Given the description of an element on the screen output the (x, y) to click on. 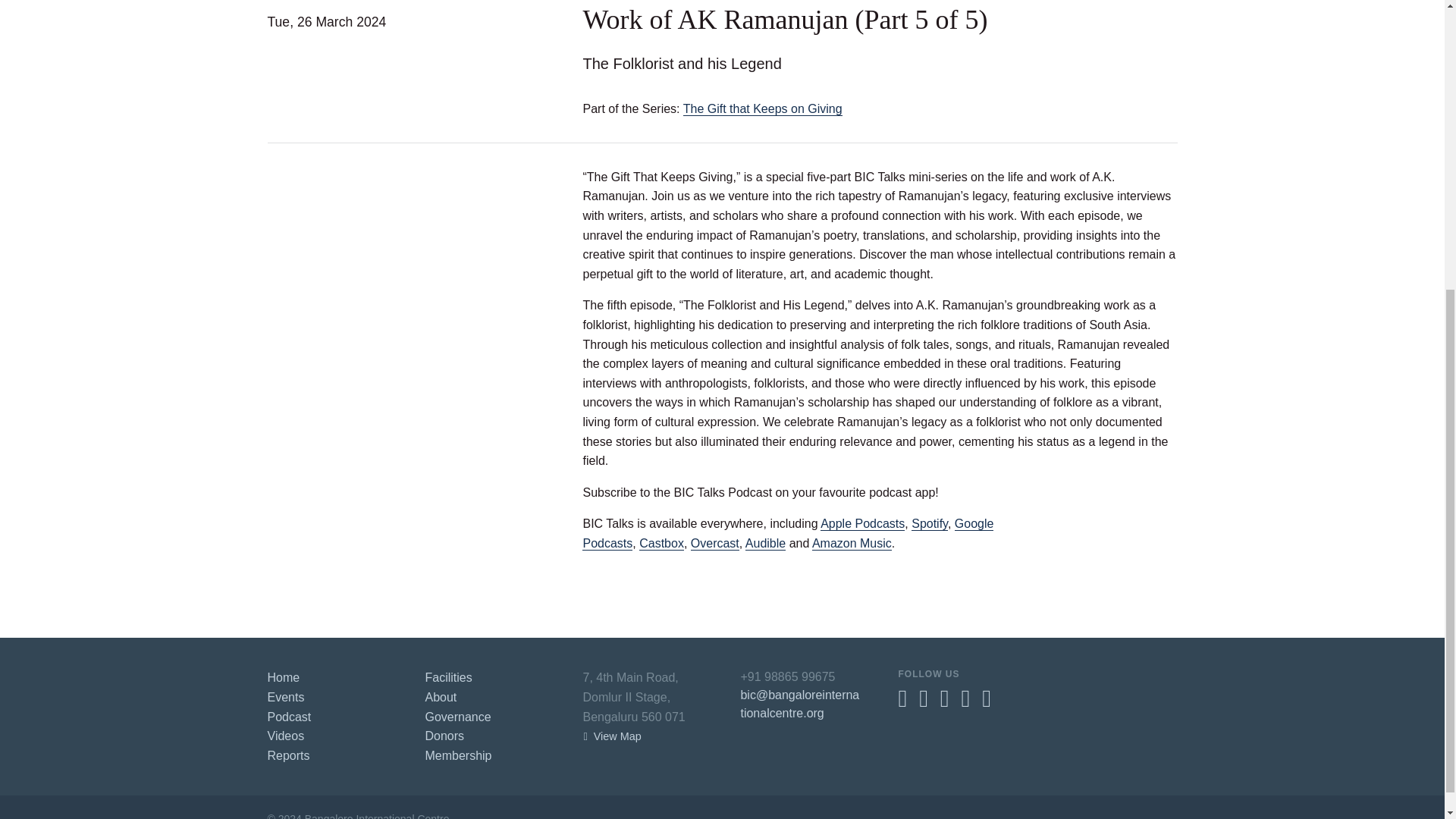
The Gift that Keeps on Giving (762, 109)
View Map (612, 736)
